Given the description of an element on the screen output the (x, y) to click on. 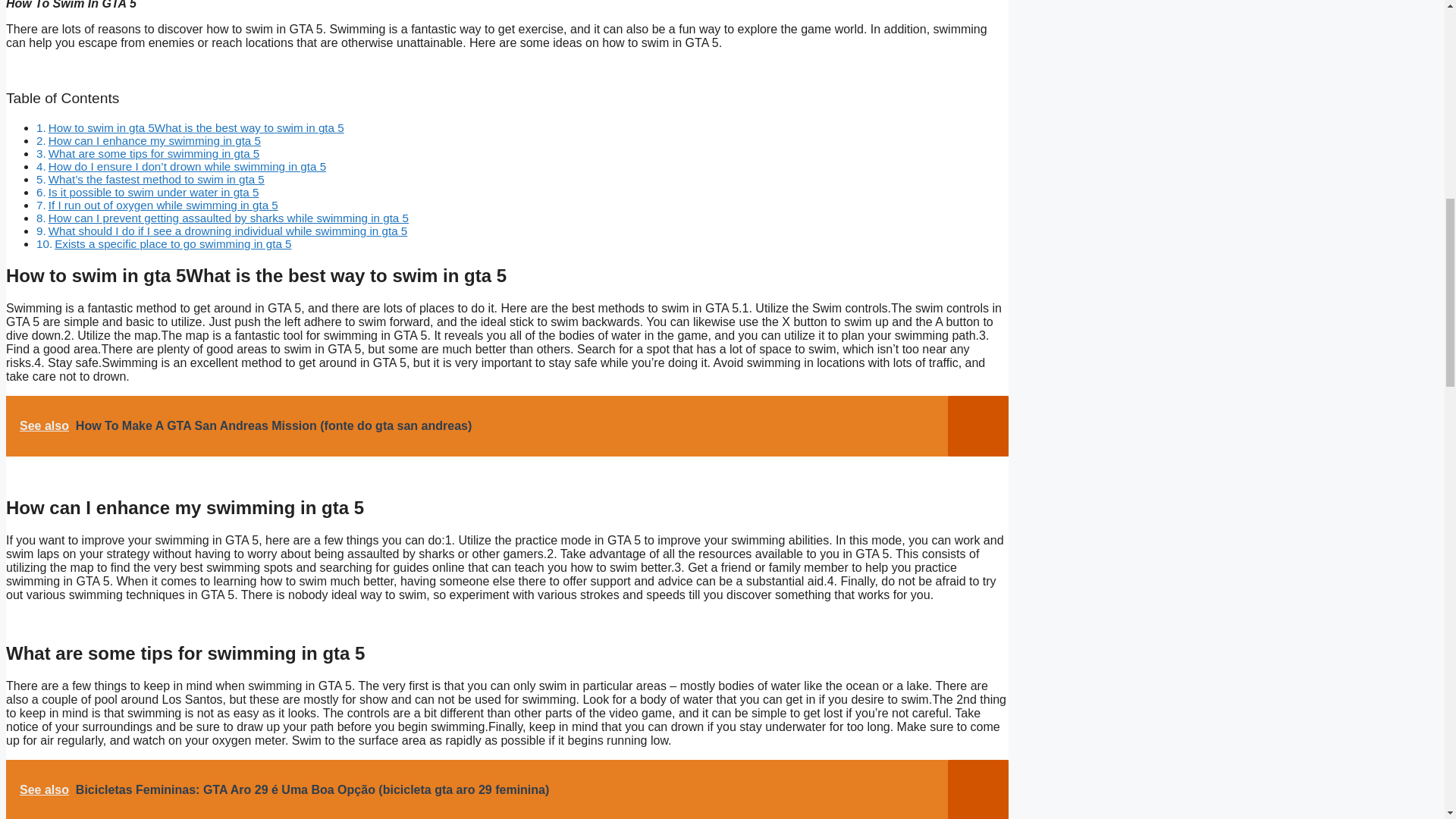
Is it possible to swim under water in gta 5 (153, 192)
How to swim in gta 5What is the best way to swim in gta 5 (195, 127)
How to swim in gta 5What is the best way to swim in gta 5 (195, 127)
How can I enhance my swimming in gta 5 (154, 140)
If I run out of oxygen while swimming in gta 5 (163, 205)
What are some tips for swimming in gta 5 (154, 153)
Is it possible to swim under water in gta 5 (153, 192)
Exists a specific place to go swimming in gta 5 (173, 243)
